Given the description of an element on the screen output the (x, y) to click on. 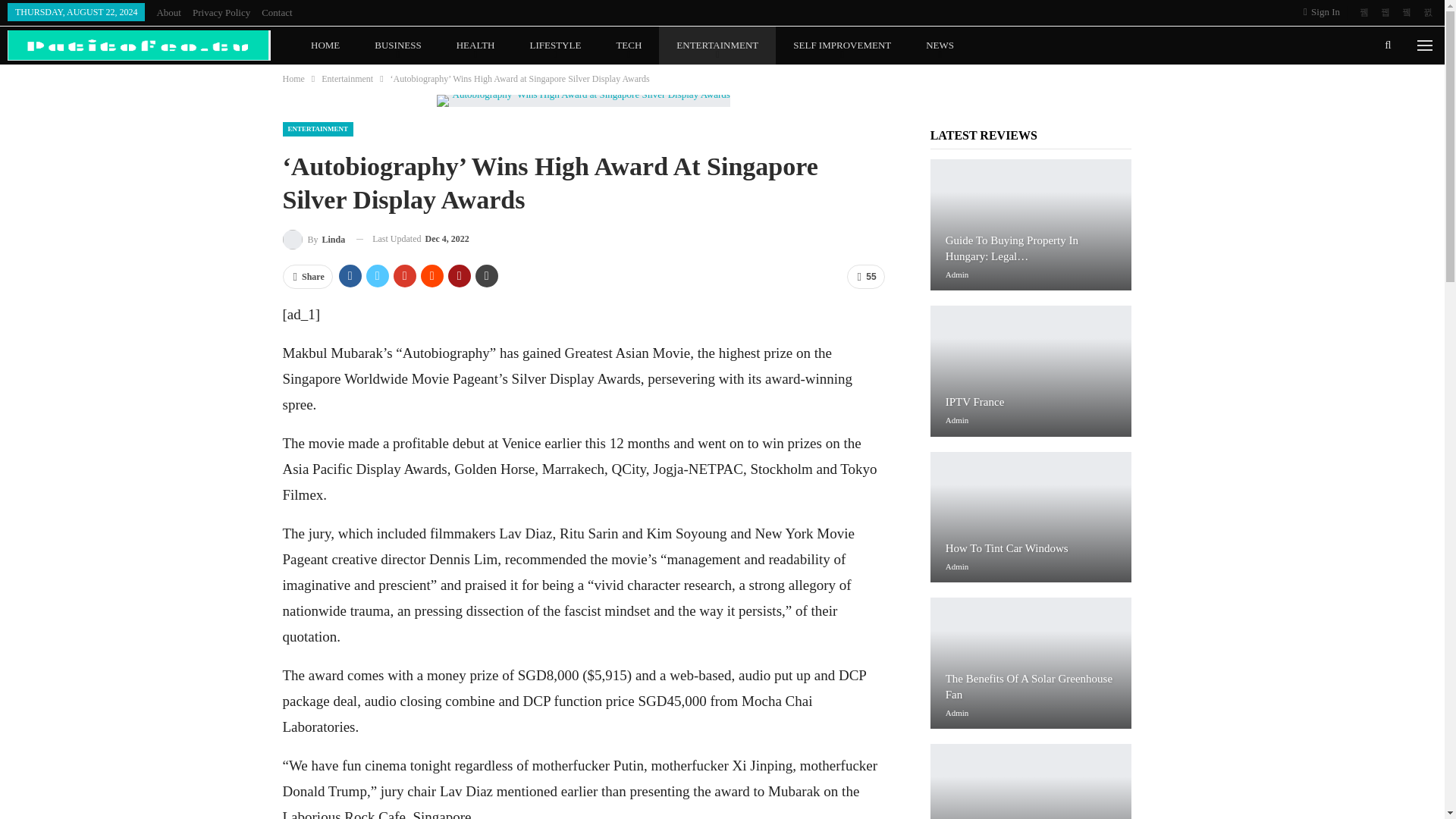
Browse Author Articles (313, 239)
HOME (325, 45)
BUSINESS (397, 45)
HEALTH (475, 45)
TECH (628, 45)
LIFESTYLE (555, 45)
Sign In (1324, 12)
Contact (277, 12)
Privacy Policy (221, 12)
